Given the description of an element on the screen output the (x, y) to click on. 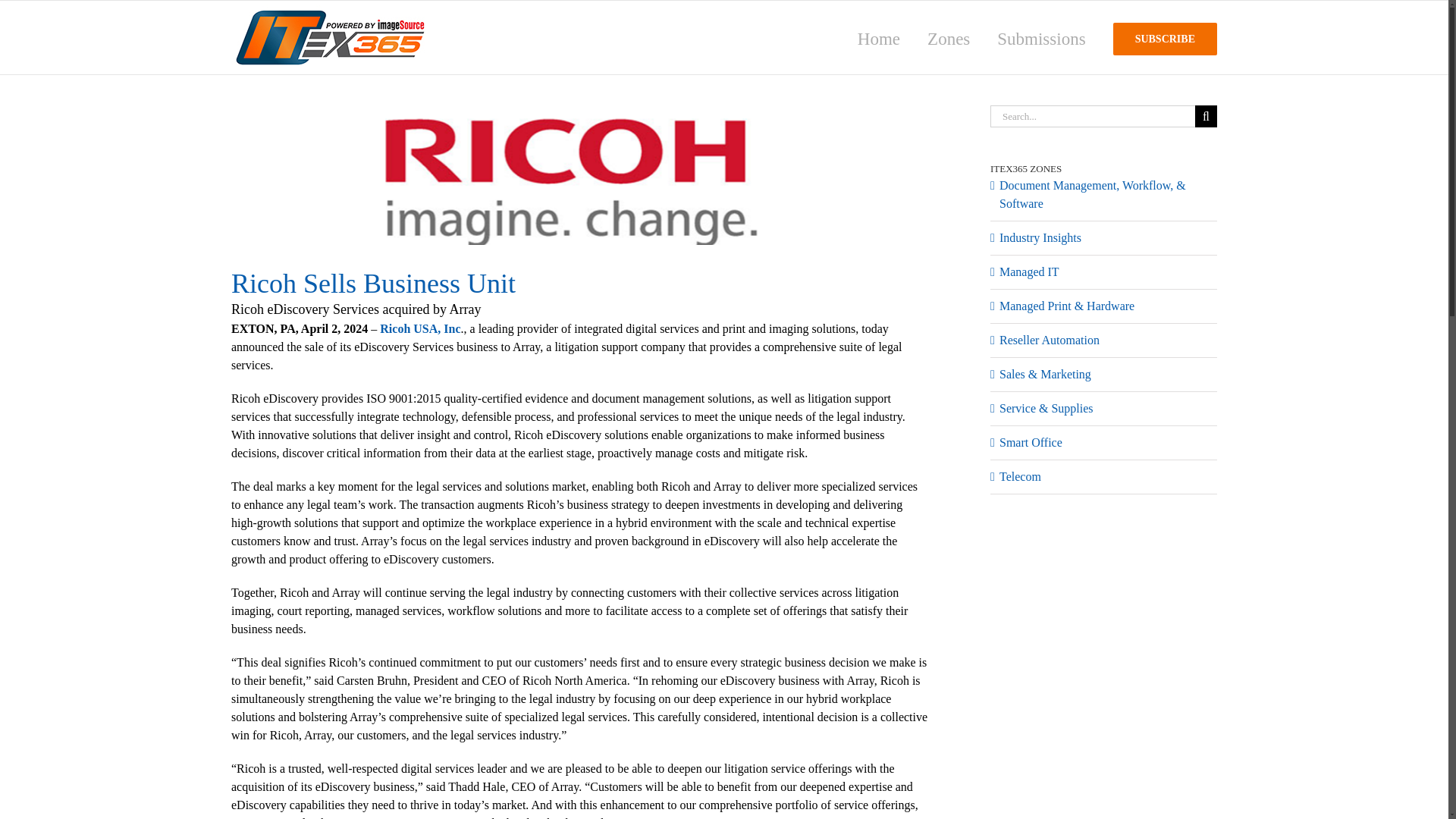
SUBSCRIBE (1165, 37)
Ricoh USA, Inc (420, 328)
Submissions (1040, 37)
